Given the description of an element on the screen output the (x, y) to click on. 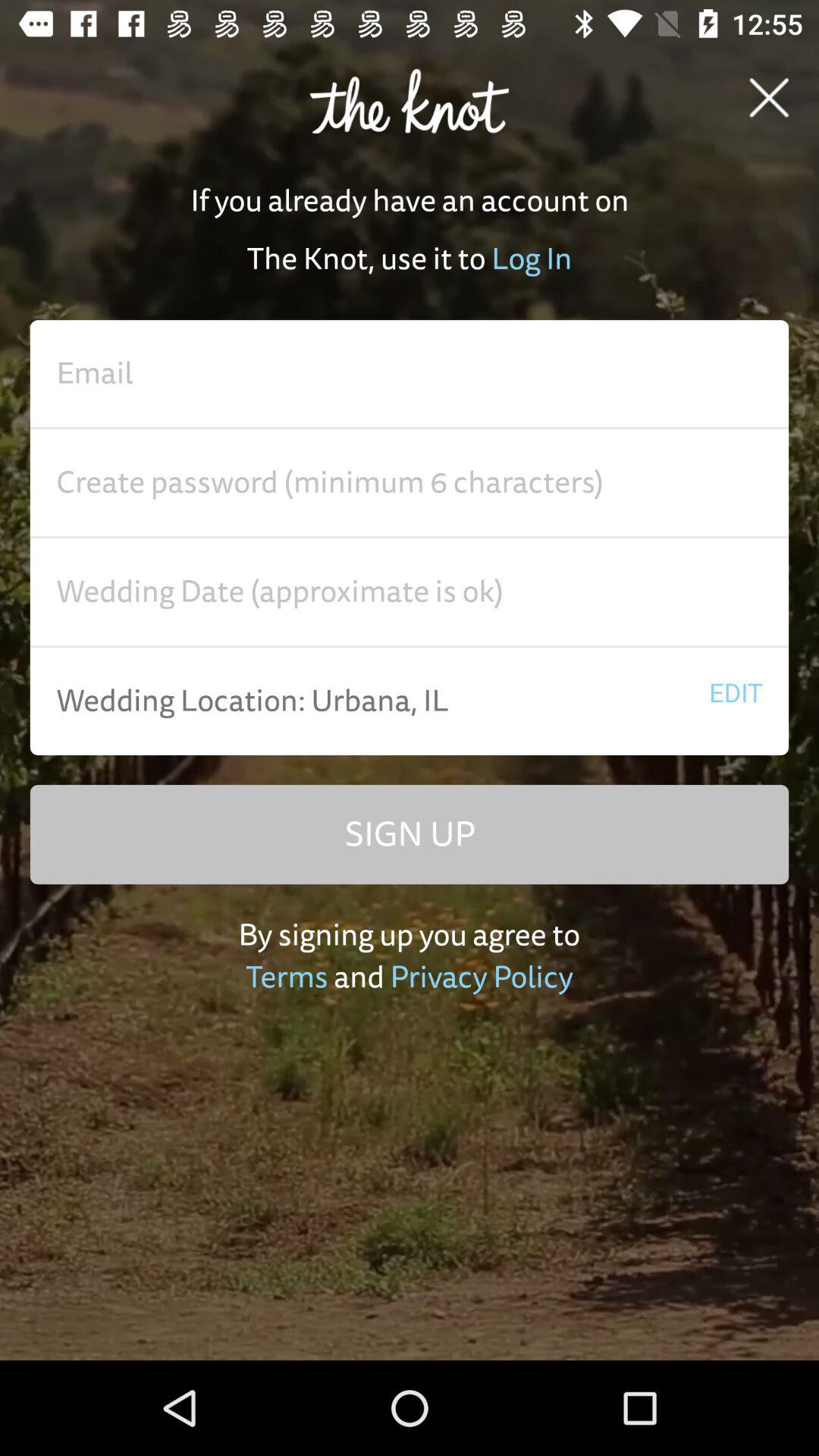
toggle password (409, 482)
